Given the description of an element on the screen output the (x, y) to click on. 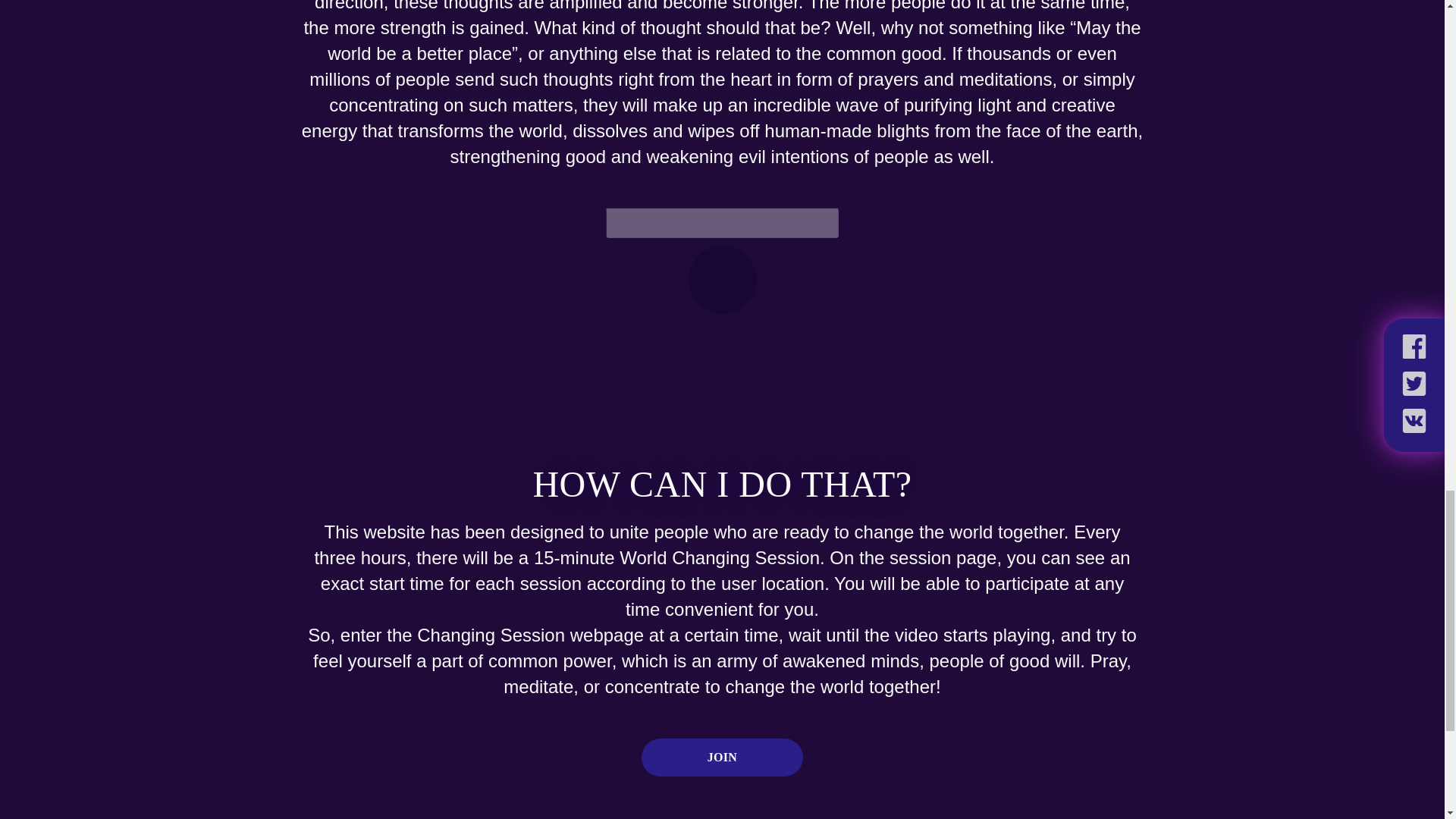
play (722, 279)
JOIN (722, 757)
